Given the description of an element on the screen output the (x, y) to click on. 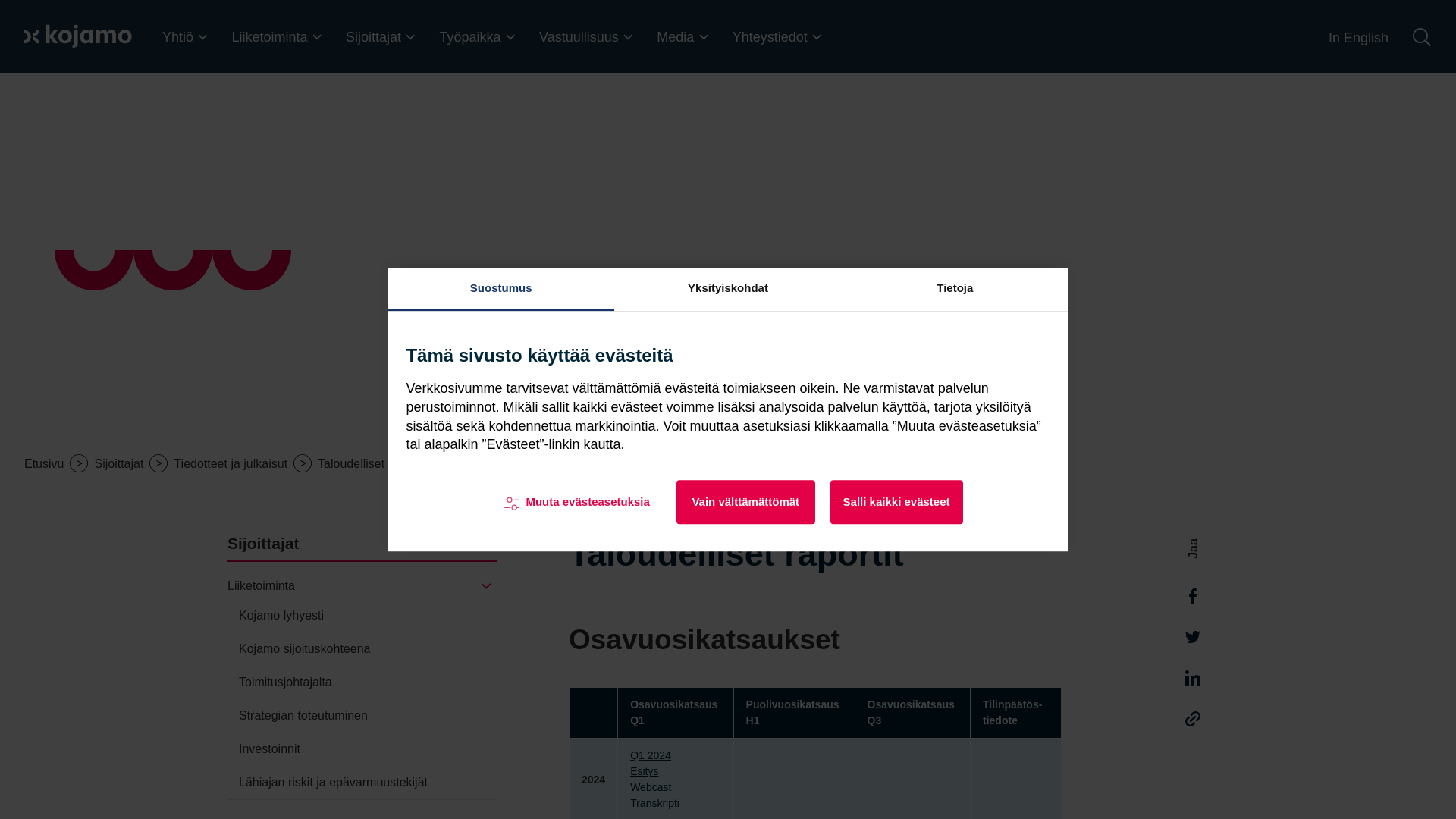
Yksityiskohdat (727, 289)
Suostumus (500, 289)
Tietoja (954, 289)
